Given the description of an element on the screen output the (x, y) to click on. 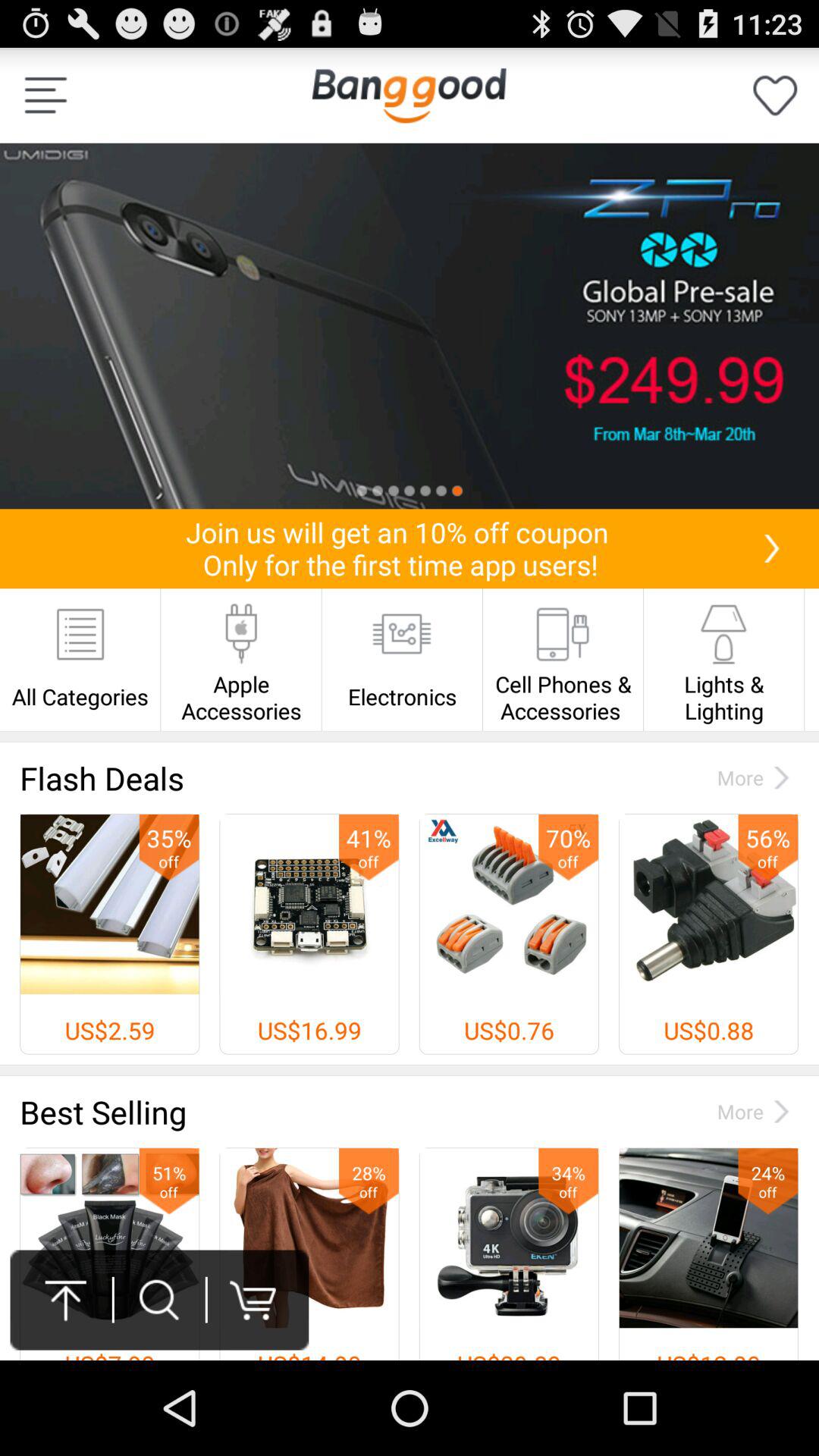
open the menu (45, 95)
